Given the description of an element on the screen output the (x, y) to click on. 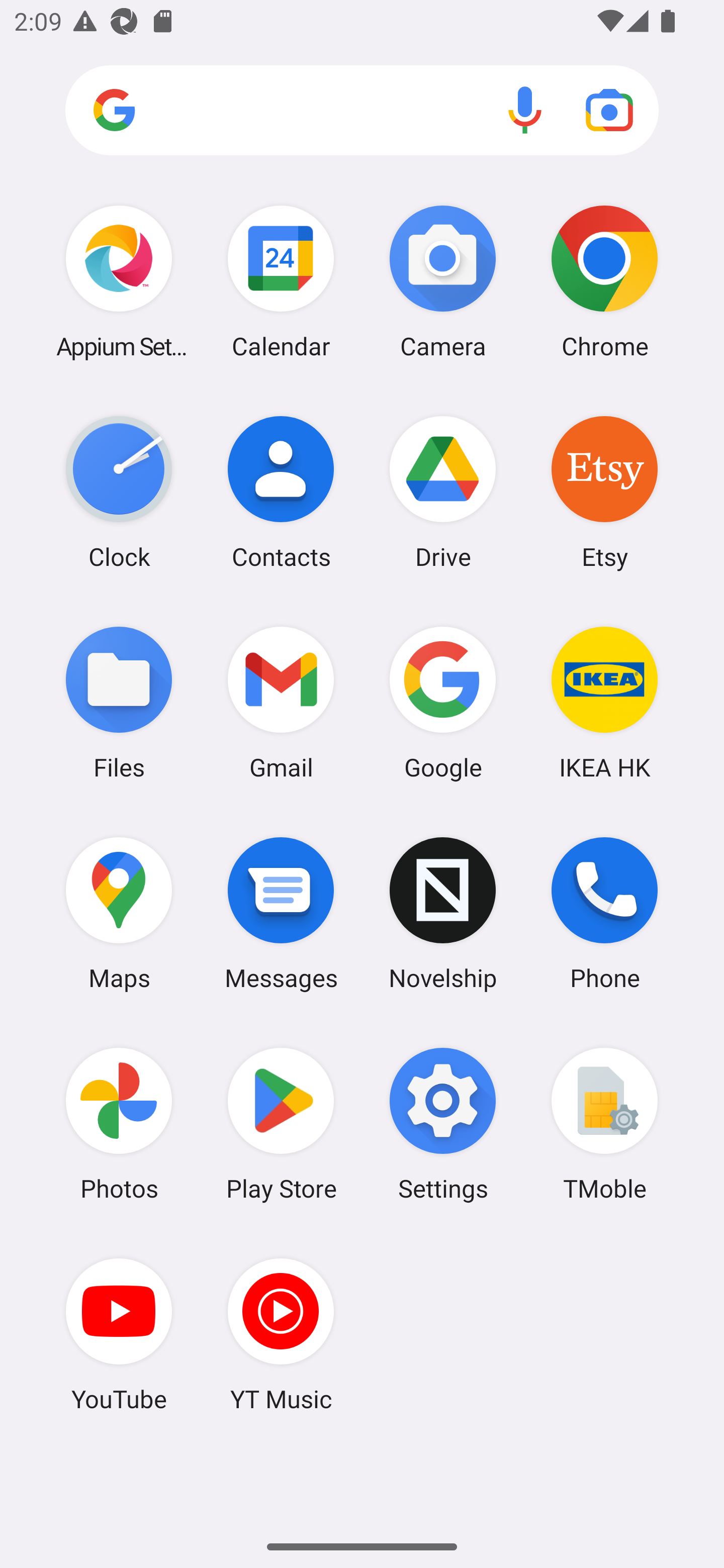
Search apps, web and more (361, 110)
Voice search (524, 109)
Google Lens (608, 109)
Appium Settings (118, 281)
Calendar (280, 281)
Camera (443, 281)
Chrome (604, 281)
Clock (118, 492)
Contacts (280, 492)
Drive (443, 492)
Etsy (604, 492)
Files (118, 702)
Gmail (280, 702)
Google (443, 702)
IKEA HK (604, 702)
Maps (118, 913)
Messages (280, 913)
Novelship (443, 913)
Phone (604, 913)
Photos (118, 1124)
Play Store (280, 1124)
Settings (443, 1124)
TMoble (604, 1124)
YouTube (118, 1334)
YT Music (280, 1334)
